Given the description of an element on the screen output the (x, y) to click on. 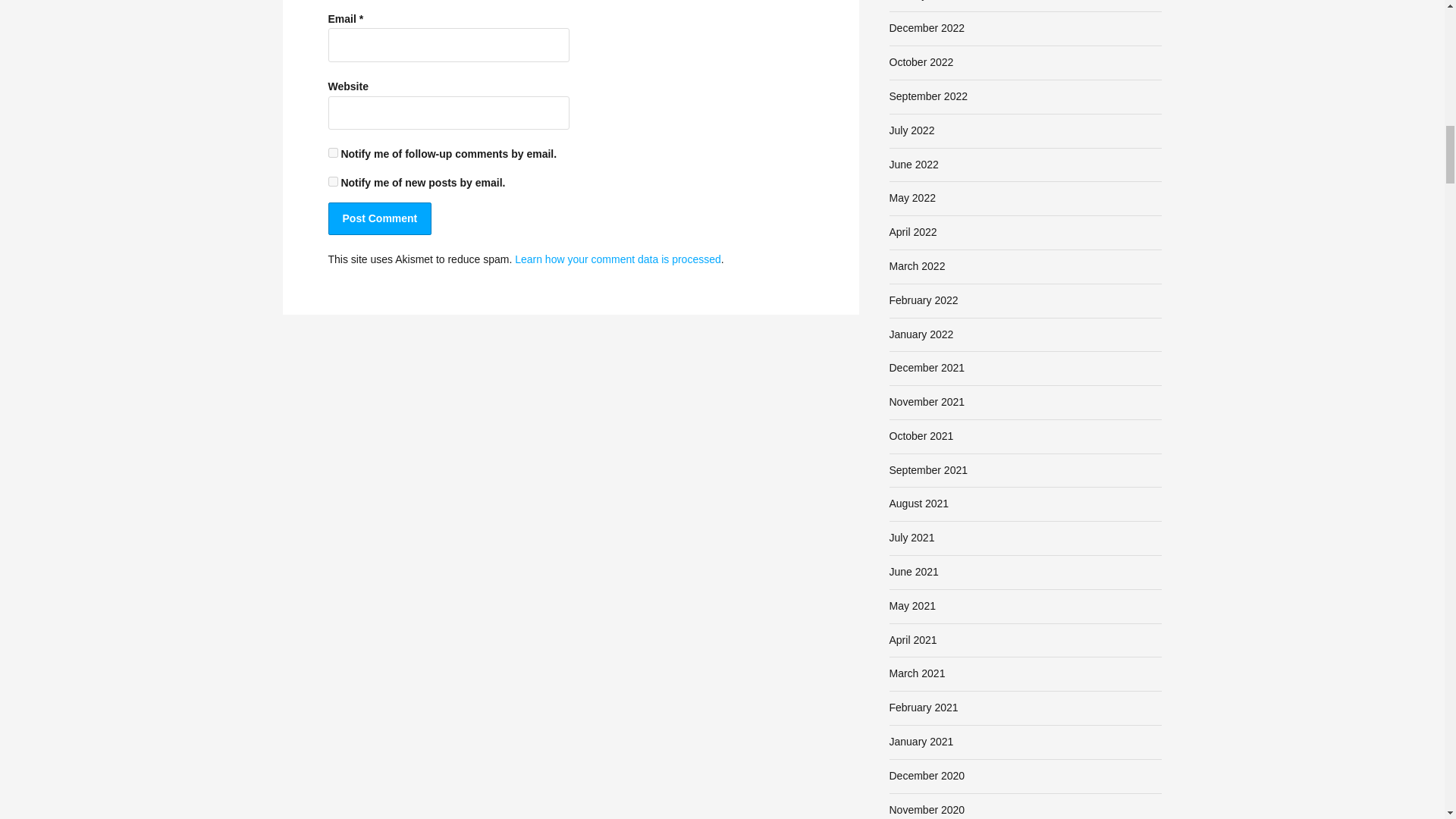
Post Comment (378, 218)
subscribe (332, 181)
subscribe (332, 153)
Post Comment (378, 218)
Learn how your comment data is processed (617, 259)
